Given the description of an element on the screen output the (x, y) to click on. 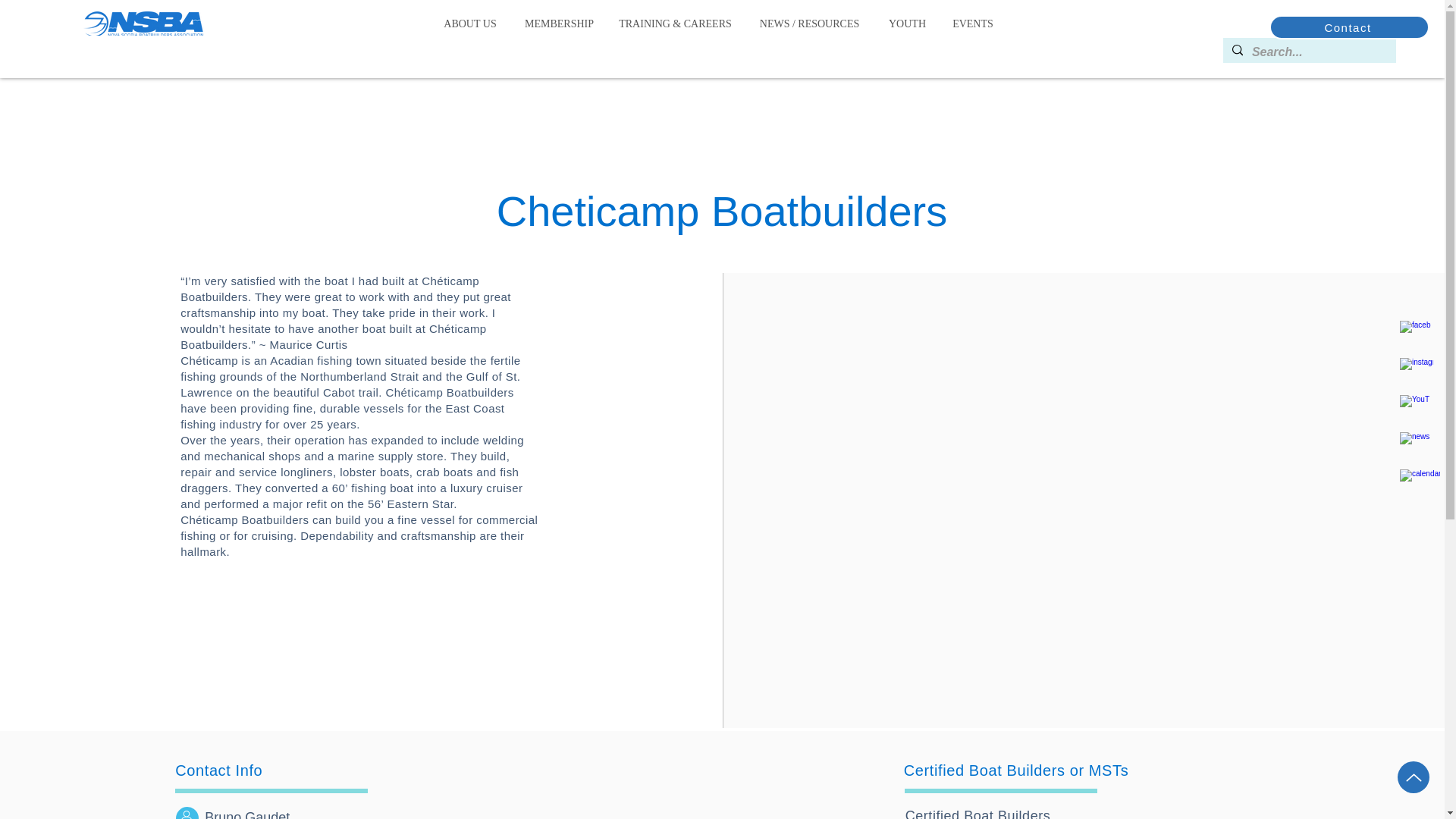
ABOUT US (470, 23)
YOUTH (907, 23)
EVENTS (972, 23)
Contact (1349, 27)
